Given the description of an element on the screen output the (x, y) to click on. 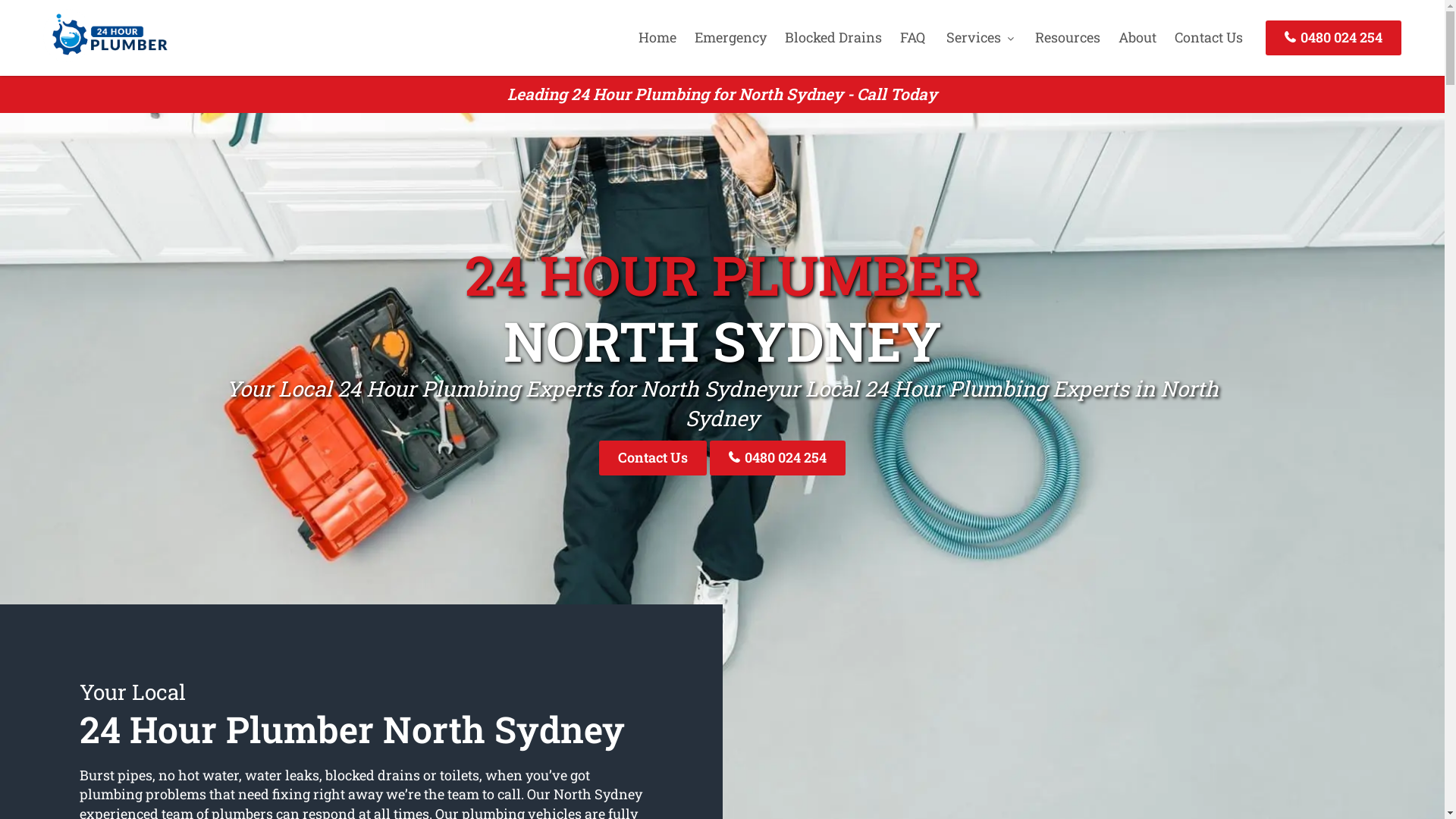
Emergency Element type: text (730, 37)
FAQ Element type: text (912, 37)
Resources Element type: text (1067, 37)
0480 024 254 Element type: text (1333, 37)
About Element type: text (1137, 37)
Contact Us Element type: text (652, 457)
Home Element type: text (657, 37)
0480 024 254 Element type: text (777, 457)
Services Element type: text (979, 37)
24 Hour Plumber Element type: hover (105, 56)
Blocked Drains Element type: text (833, 37)
Contact Us Element type: text (1208, 37)
